Given the description of an element on the screen output the (x, y) to click on. 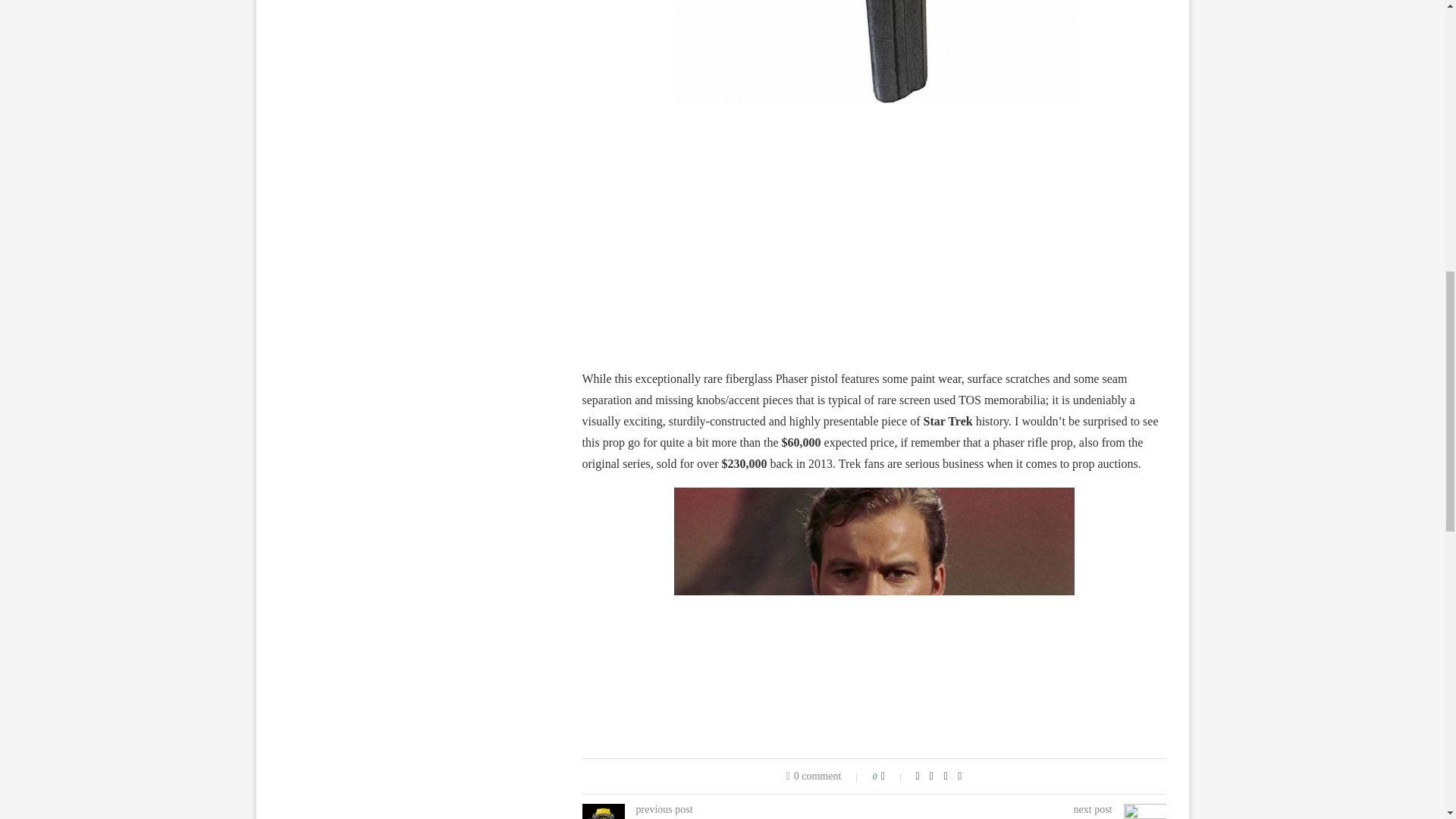
Like (892, 776)
